Given the description of an element on the screen output the (x, y) to click on. 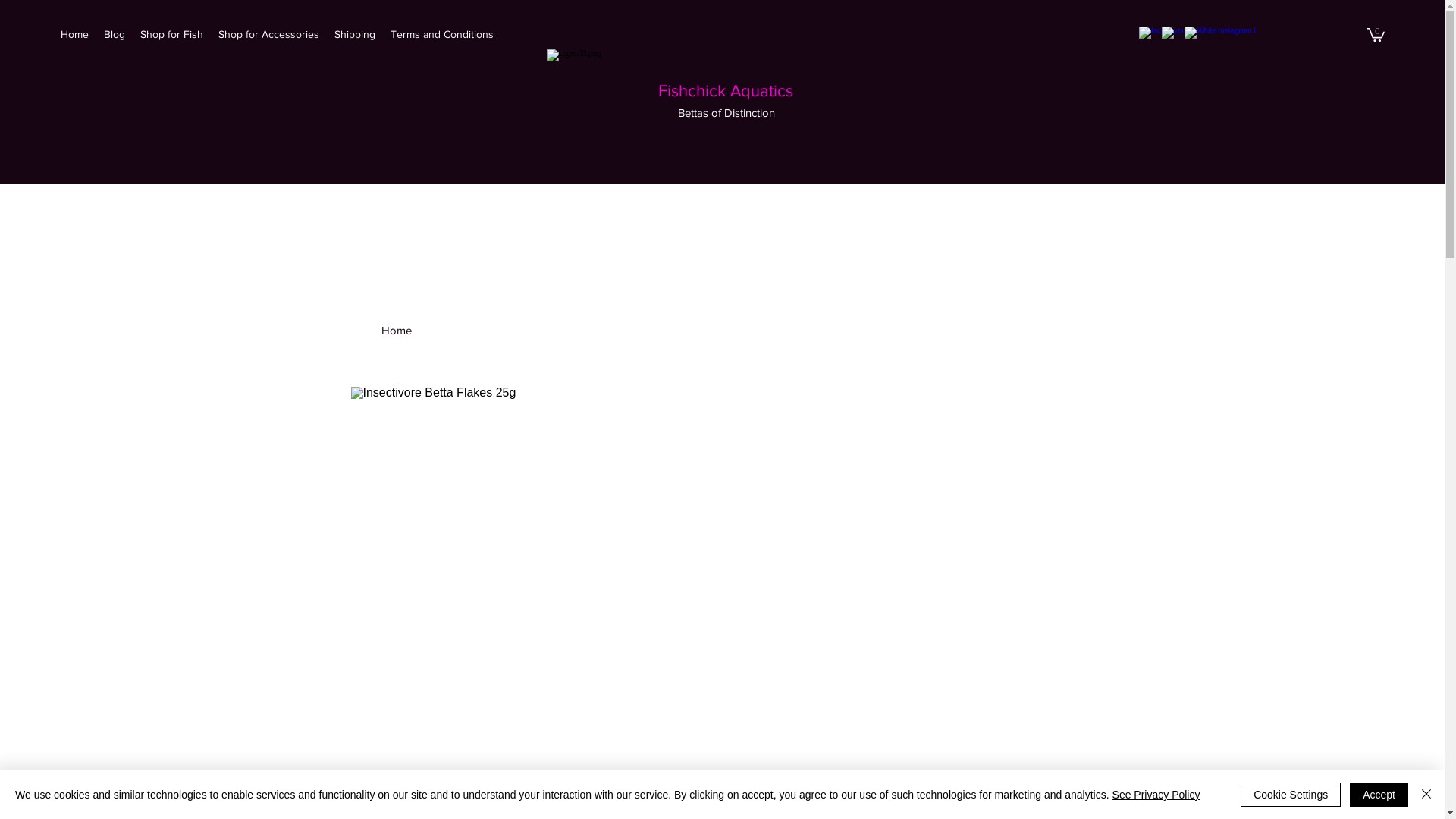
Home Element type: text (74, 33)
See Privacy Policy Element type: text (1156, 794)
Shipping Element type: text (354, 33)
Shop for Accessories Element type: text (268, 33)
Blog Element type: text (114, 33)
Terms and Conditions Element type: text (441, 33)
Accept Element type: text (1378, 794)
Cookie Settings Element type: text (1290, 794)
Home Element type: text (395, 329)
0 Element type: text (1375, 33)
Shop for Fish Element type: text (171, 33)
Fishchick Aquatics Element type: text (725, 90)
